Given the description of an element on the screen output the (x, y) to click on. 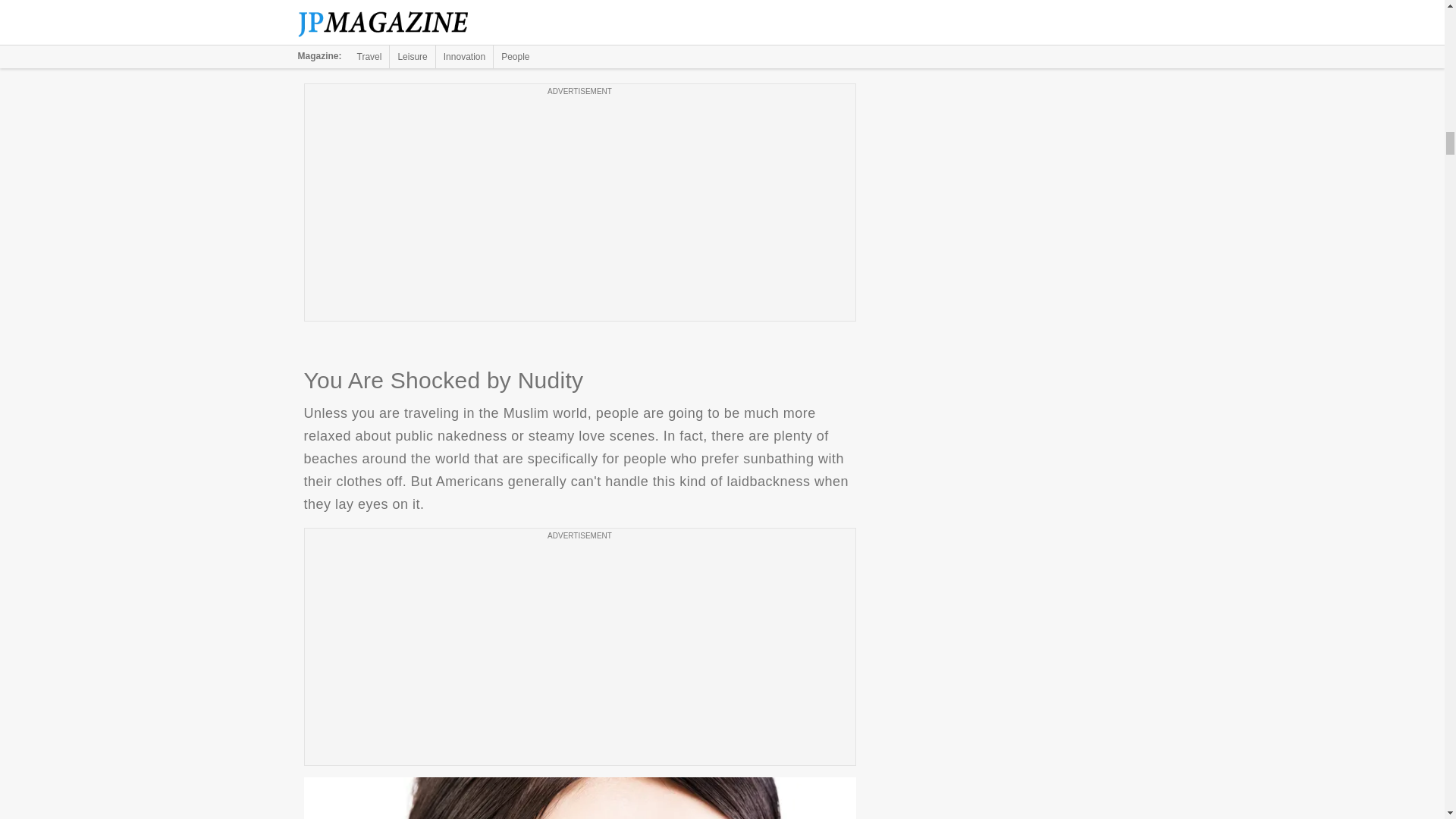
You Are Shocked by Nudity (579, 798)
